Given the description of an element on the screen output the (x, y) to click on. 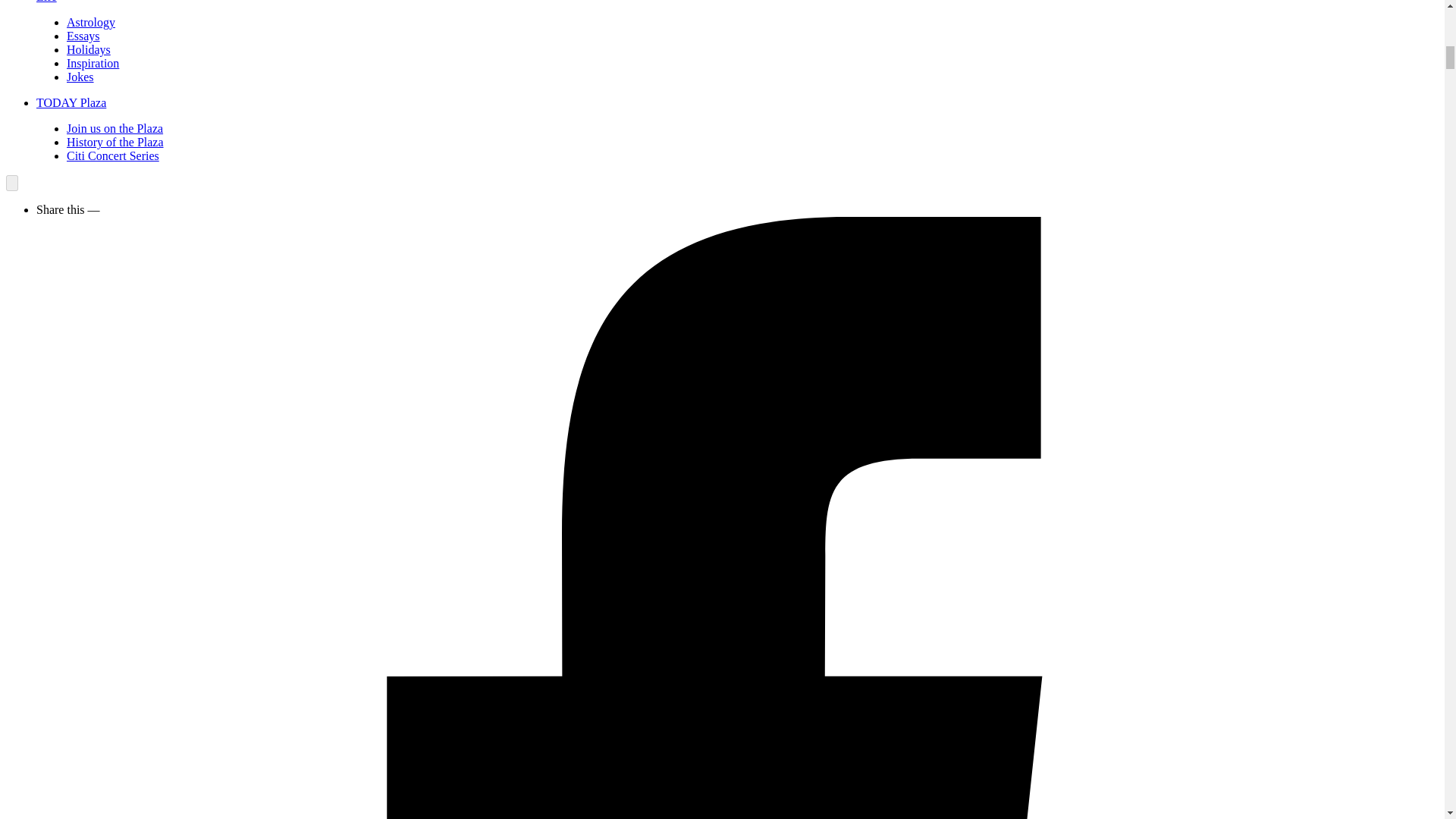
Astrology (90, 21)
Essays (83, 35)
Life (46, 1)
